Given the description of an element on the screen output the (x, y) to click on. 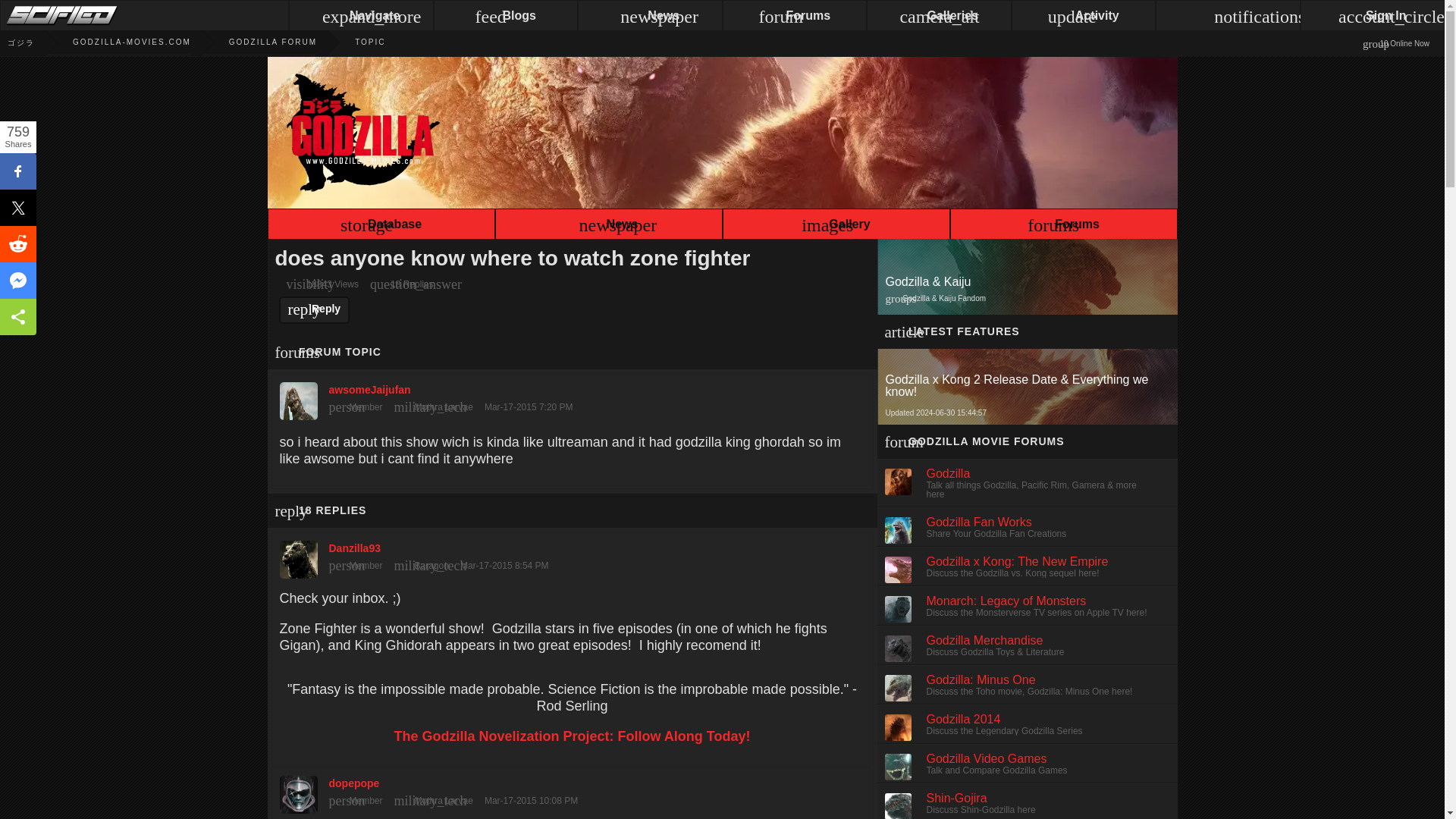
Forums (1062, 226)
Latest Godzilla Movie news (608, 226)
GODZILLA FORUM (253, 42)
Database (380, 226)
News (608, 226)
Godzilla Movies News - Monsterverse (17, 43)
TOPIC (351, 42)
The Godzilla Novelization Project: Follow Along Today! (571, 735)
Open the Godzilla Movie Forums (1062, 226)
Reply to this! (314, 309)
dopepope (571, 790)
Danzilla93 (571, 555)
GODZILLA-MOVIES.COM (112, 42)
awsomeJaijufan (571, 397)
Godzilla Forum (253, 42)
